Given the description of an element on the screen output the (x, y) to click on. 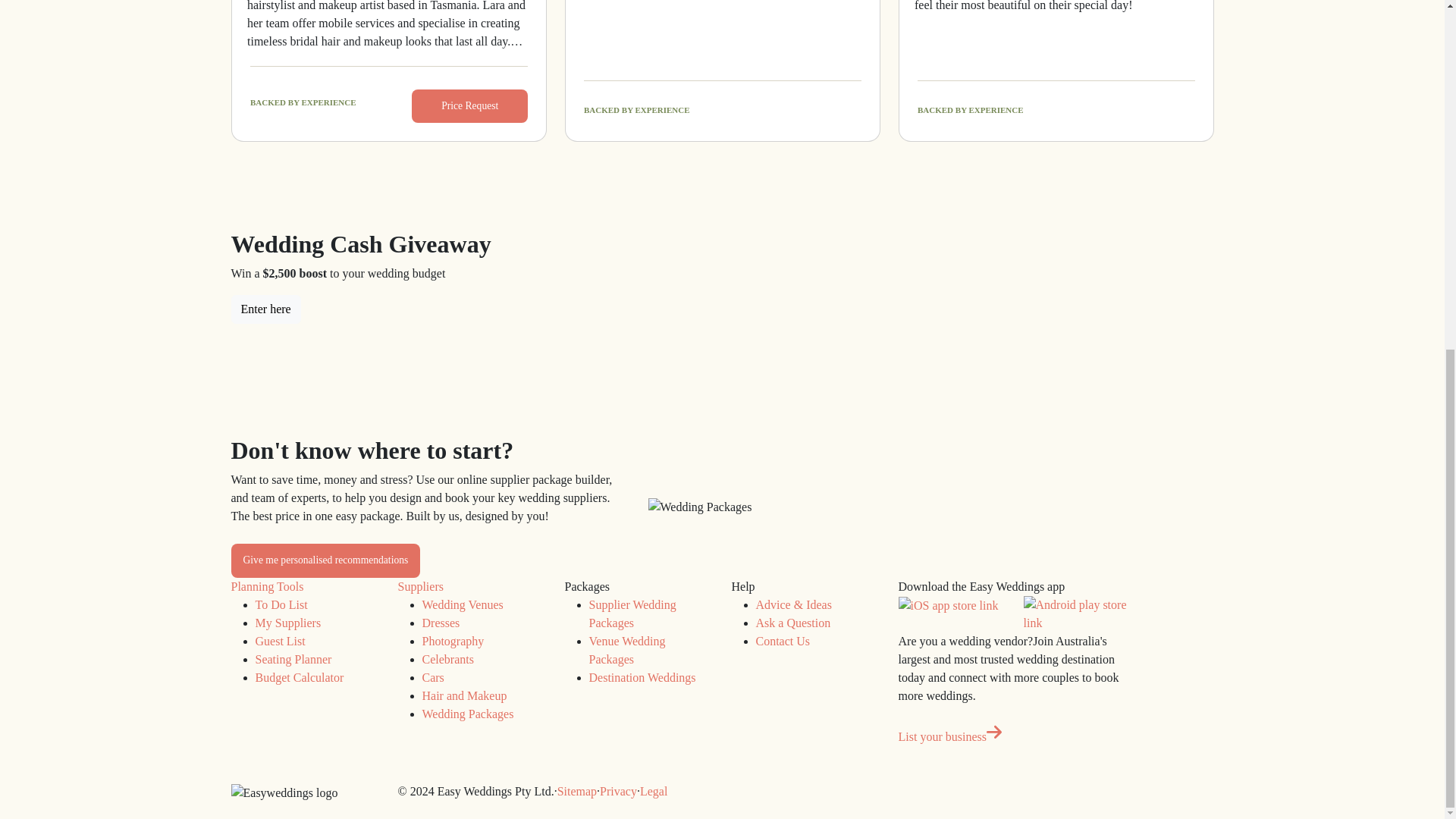
Give me personalised recommendations (325, 560)
iOS app store link (947, 606)
Enter here (264, 308)
Android play store link (1077, 614)
